Given the description of an element on the screen output the (x, y) to click on. 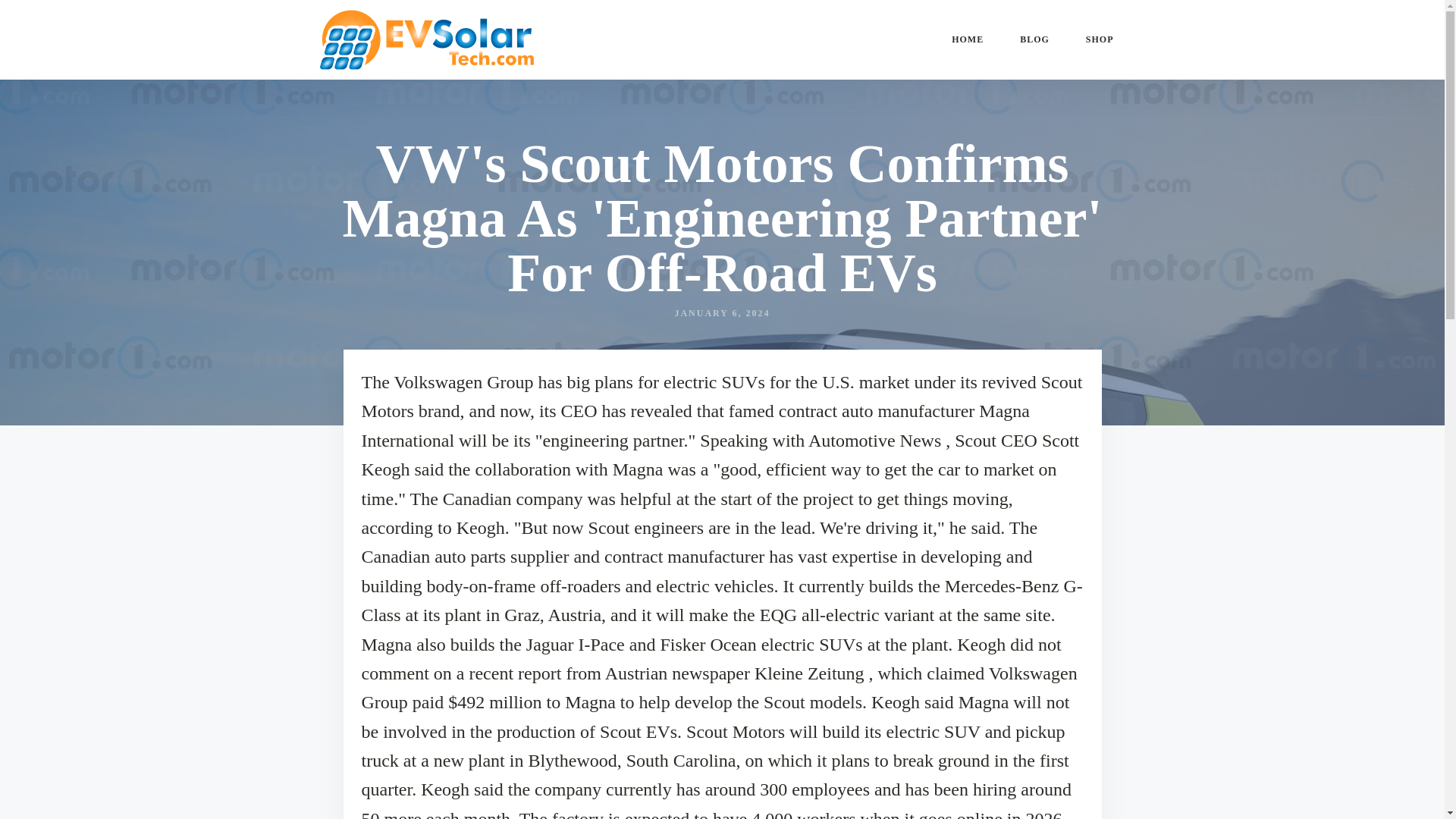
BLOG (1034, 39)
HOME (967, 39)
SHOP (1099, 39)
